Given the description of an element on the screen output the (x, y) to click on. 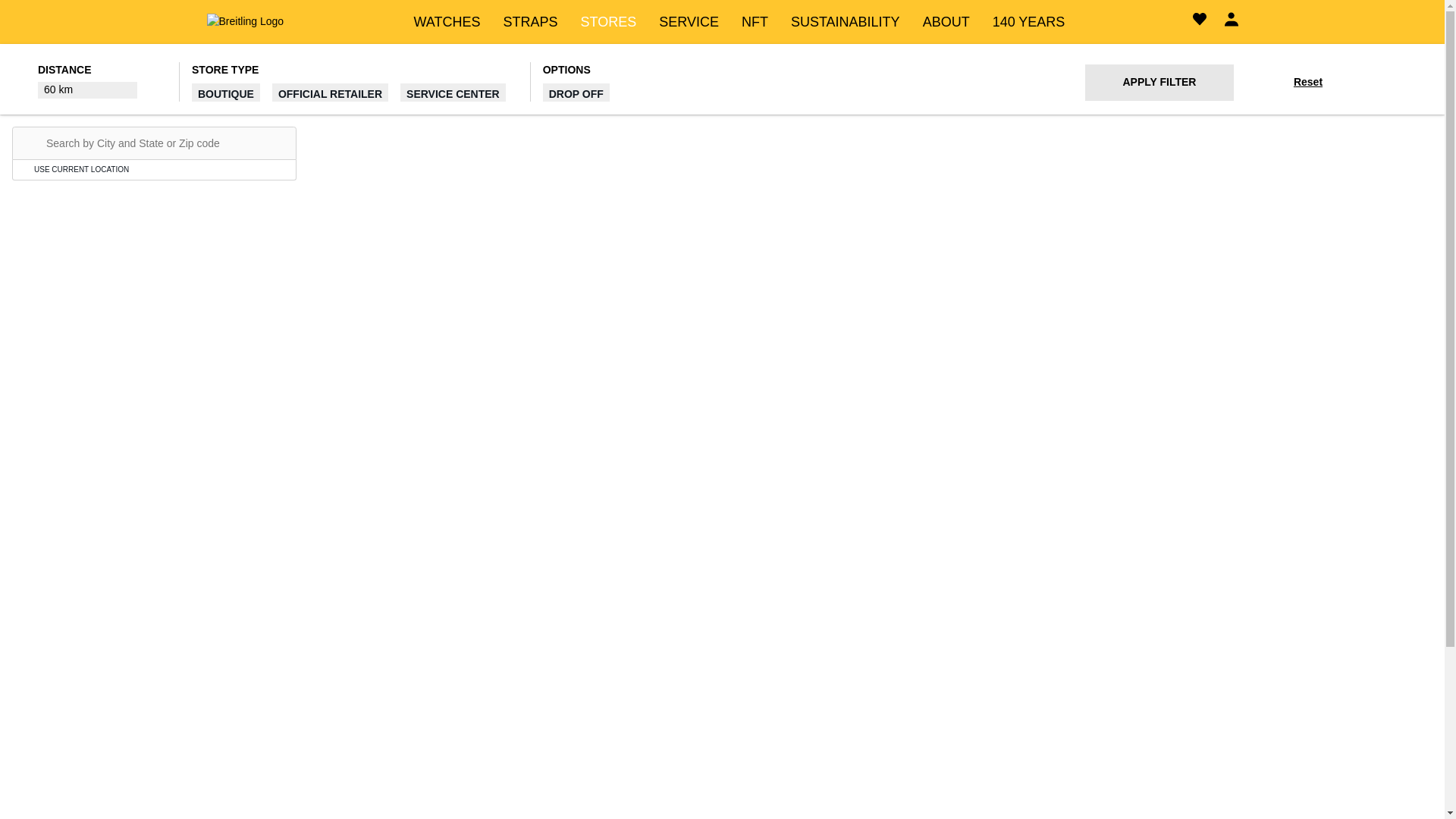
NFT (754, 21)
60 km (86, 89)
STORES (608, 21)
STRAPS (530, 21)
140 YEARS (1028, 21)
USE CURRENT LOCATION (154, 169)
Reset (1307, 82)
APPLY FILTER (1158, 82)
SUSTAINABILITY (844, 21)
ABOUT (946, 21)
SERVICE (689, 21)
WATCHES (446, 21)
